Given the description of an element on the screen output the (x, y) to click on. 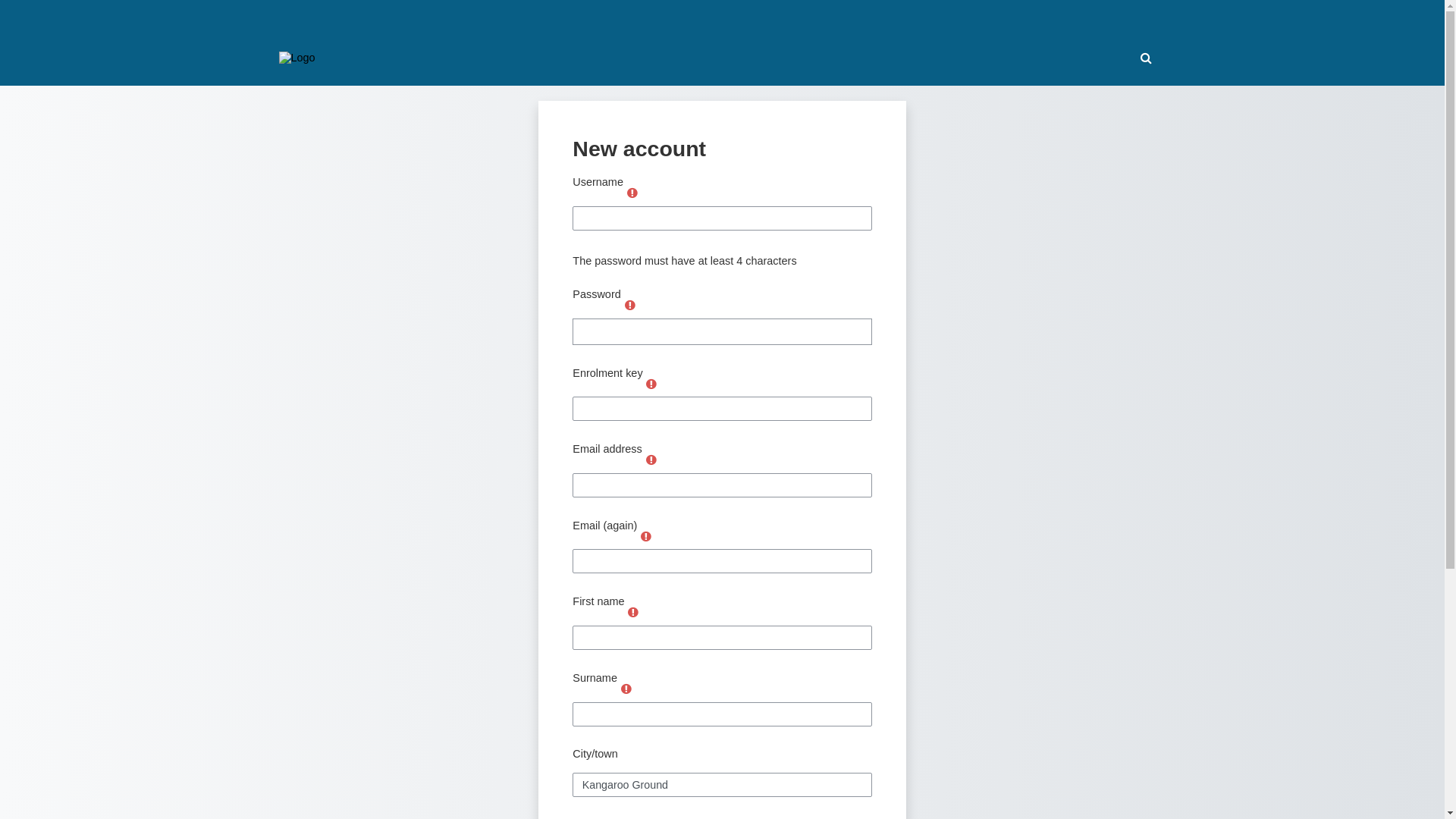
Required Element type: hover (632, 191)
Required Element type: hover (630, 304)
Required Element type: hover (646, 536)
SILA Moodle Element type: hover (297, 57)
Required Element type: hover (651, 459)
Required Element type: hover (651, 383)
Required Element type: hover (626, 688)
Required Element type: hover (632, 192)
Required Element type: hover (651, 458)
Required Element type: hover (626, 687)
Required Element type: hover (630, 303)
Required Element type: hover (633, 611)
Required Element type: hover (646, 535)
Toggle search input Element type: text (1145, 58)
Required Element type: hover (633, 610)
Required Element type: hover (651, 382)
